Given the description of an element on the screen output the (x, y) to click on. 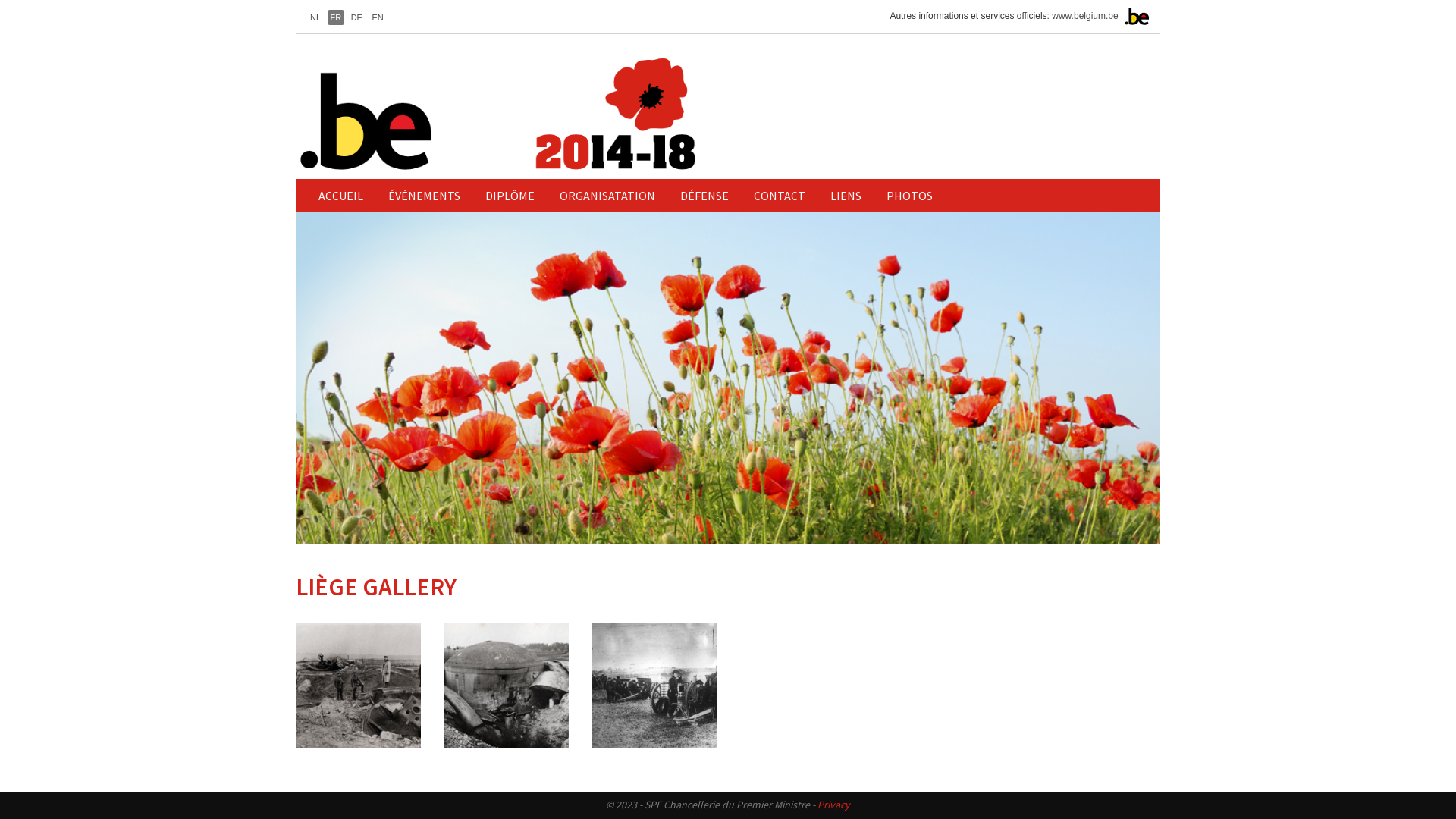
Fort de Loncin Element type: hover (357, 685)
Red poppies Element type: hover (727, 377)
Privacy Element type: text (833, 804)
CONTACT Element type: text (779, 195)
DE Element type: text (356, 17)
PHOTOS Element type: text (909, 195)
Skip to main content Element type: text (0, 0)
ACCUEIL Element type: text (340, 195)
EN Element type: text (376, 17)
LIENS Element type: text (845, 195)
FR Element type: text (336, 17)
ORGANISATATION Element type: text (607, 195)
Home Element type: hover (556, 113)
www.belgium.be Element type: text (1084, 15)
NL Element type: text (315, 17)
